Given the description of an element on the screen output the (x, y) to click on. 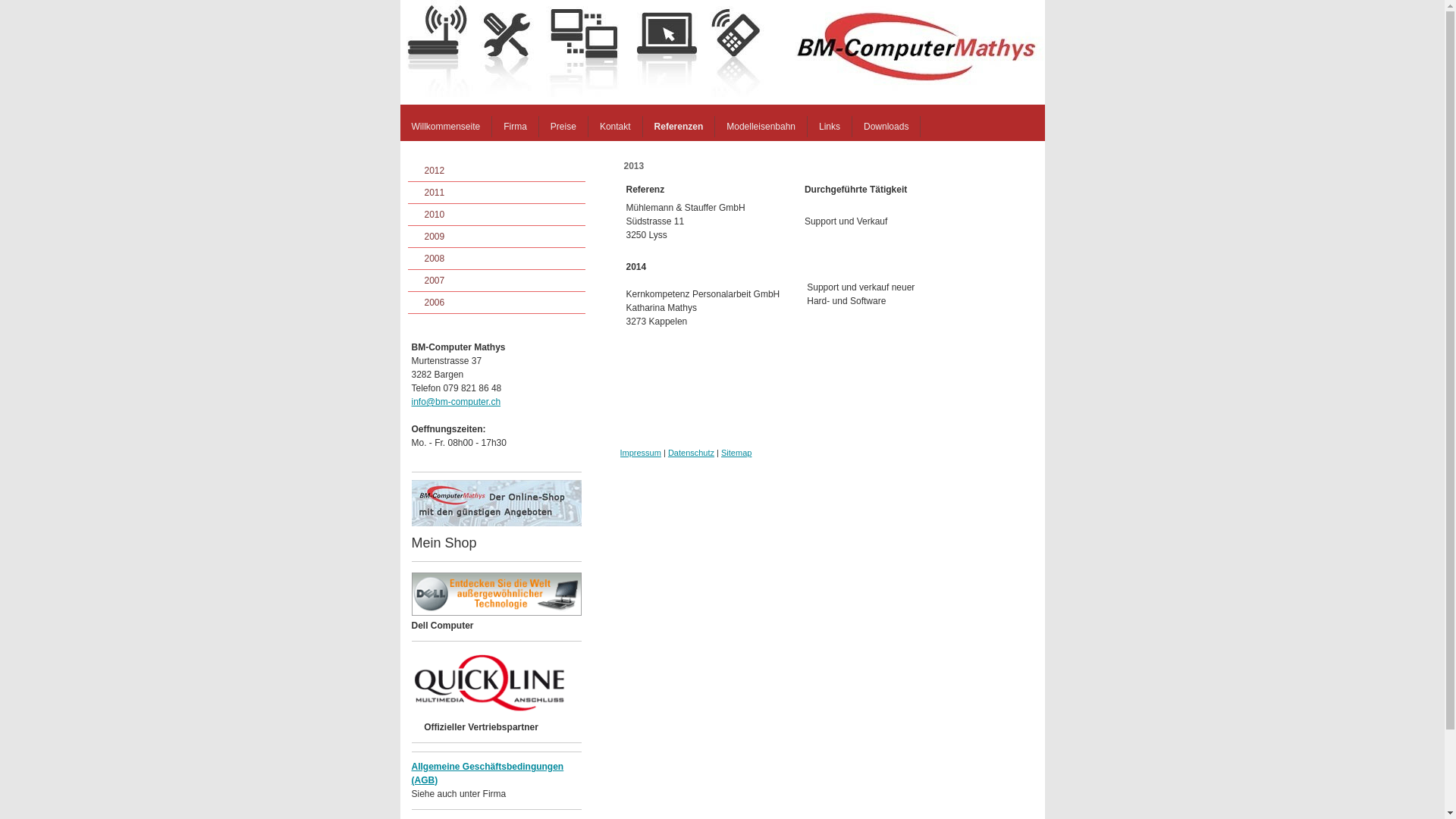
Kontakt Element type: text (615, 126)
info@bm-computer.ch Element type: text (455, 401)
2009 Element type: text (496, 236)
Datenschutz Element type: text (691, 452)
2010 Element type: text (496, 214)
Impressum Element type: text (640, 452)
2008 Element type: text (496, 258)
2012 Element type: text (496, 171)
Downloads Element type: text (886, 126)
Willkommenseite Element type: text (446, 126)
Sitemap Element type: text (736, 452)
Links Element type: text (829, 126)
2011 Element type: text (496, 192)
Modelleisenbahn Element type: text (761, 126)
2006 Element type: text (496, 302)
Firma Element type: text (515, 126)
2007 Element type: text (496, 280)
Preise Element type: text (563, 126)
Referenzen Element type: text (679, 126)
